Given the description of an element on the screen output the (x, y) to click on. 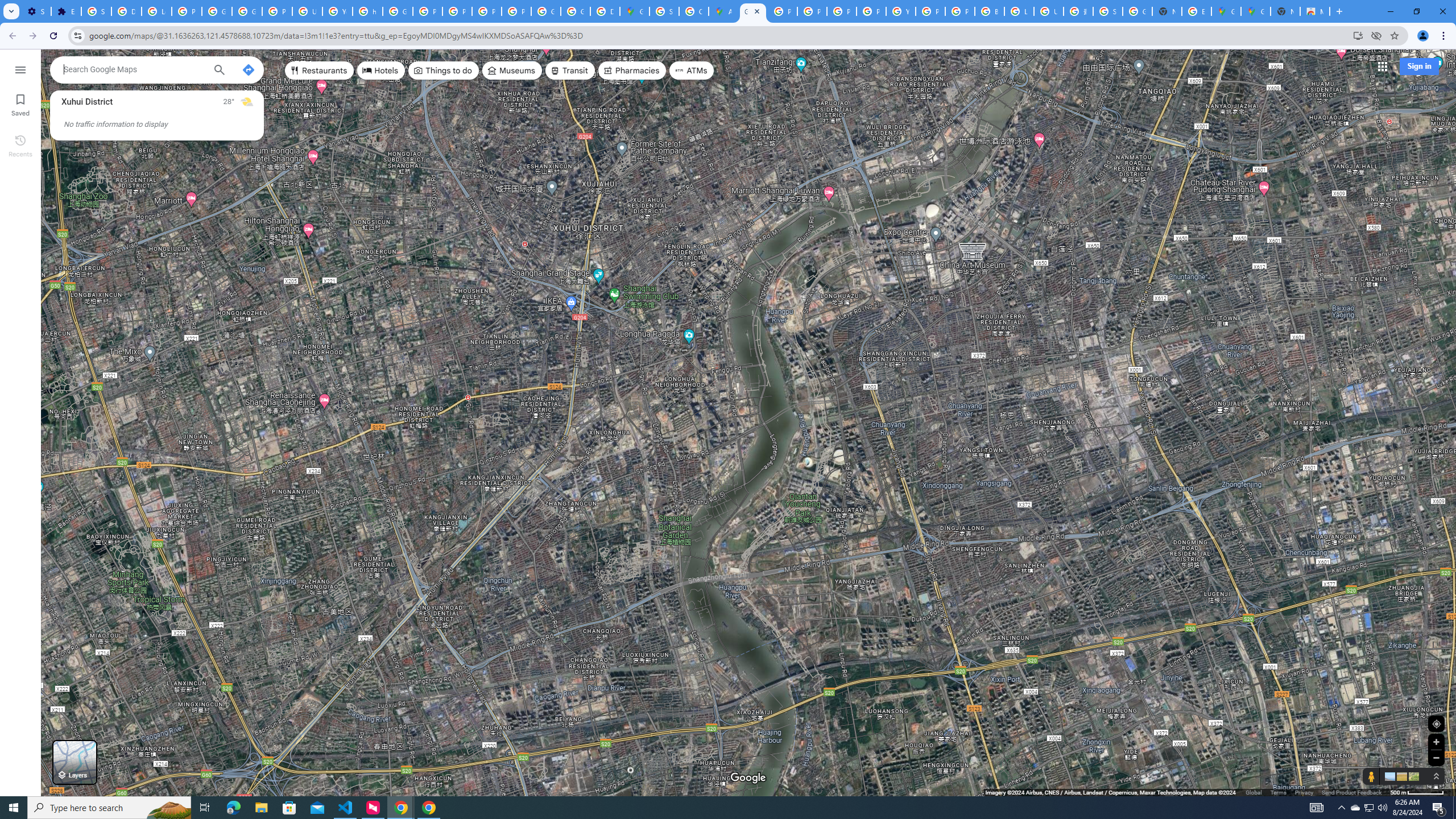
Google Maps (634, 11)
Recents (20, 145)
Sign in - Google Accounts (664, 11)
Extensions (65, 11)
Museums (511, 70)
Install Google Maps (1358, 35)
